Given the description of an element on the screen output the (x, y) to click on. 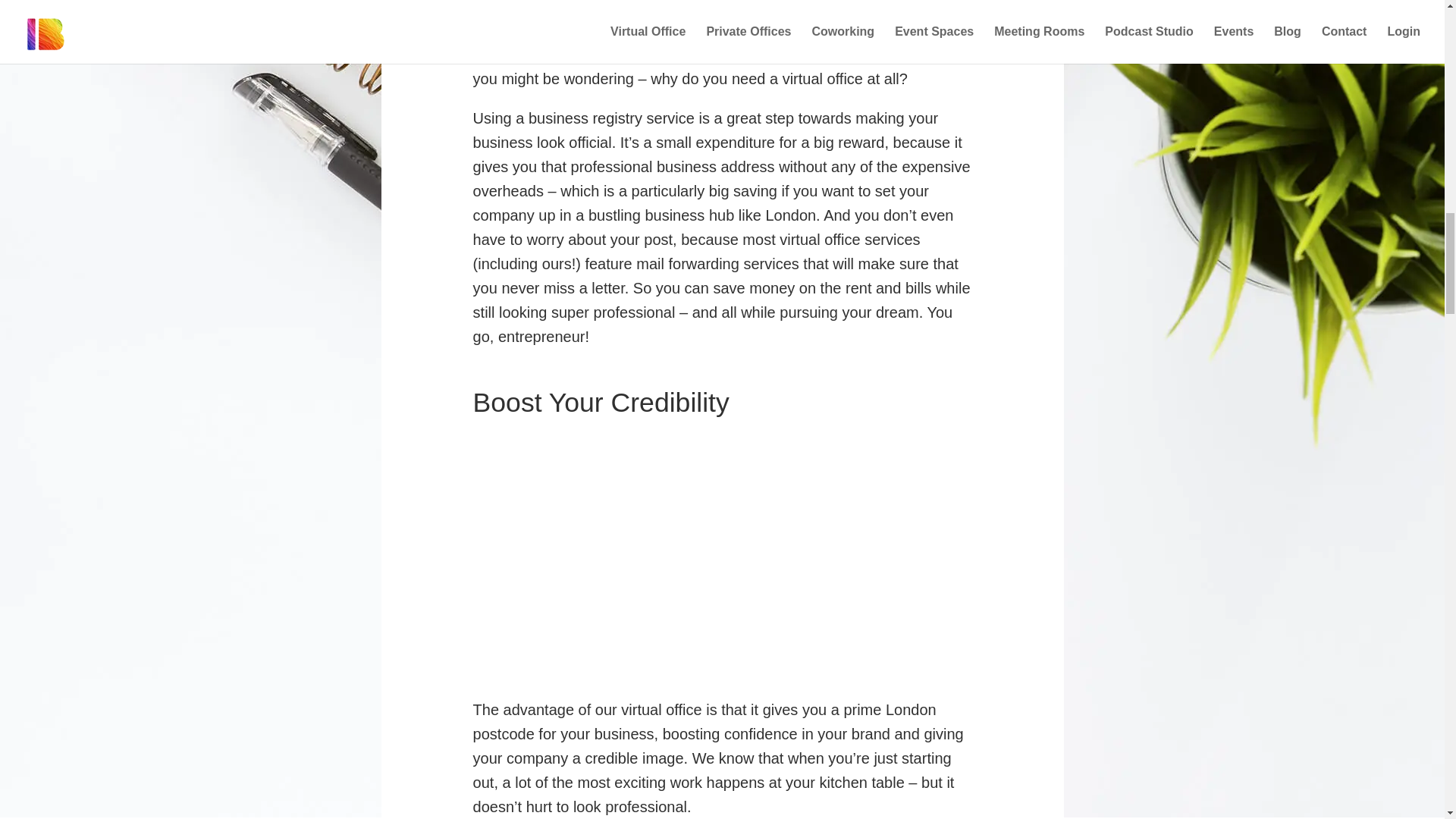
boost business credibility with our virtual office in london (700, 562)
